Given the description of an element on the screen output the (x, y) to click on. 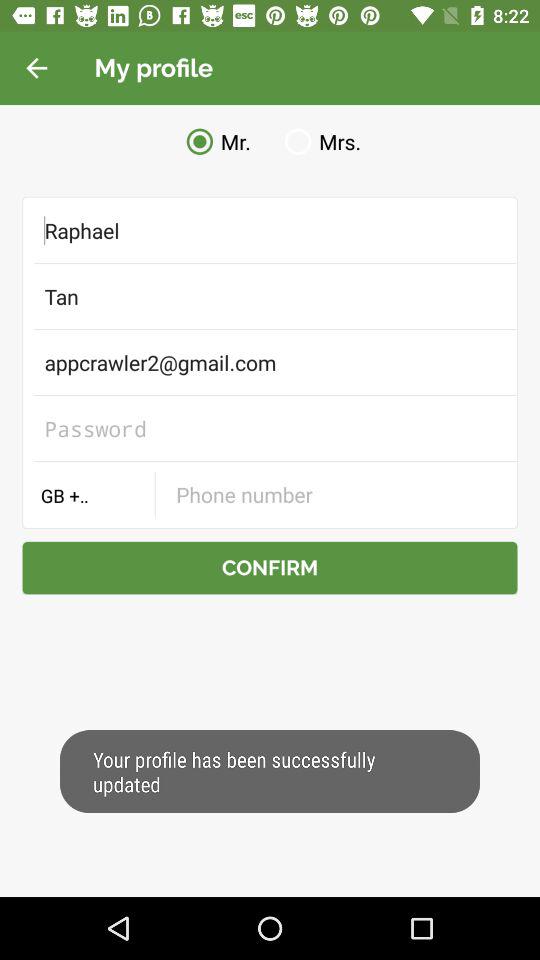
enter mobile number (335, 494)
